Given the description of an element on the screen output the (x, y) to click on. 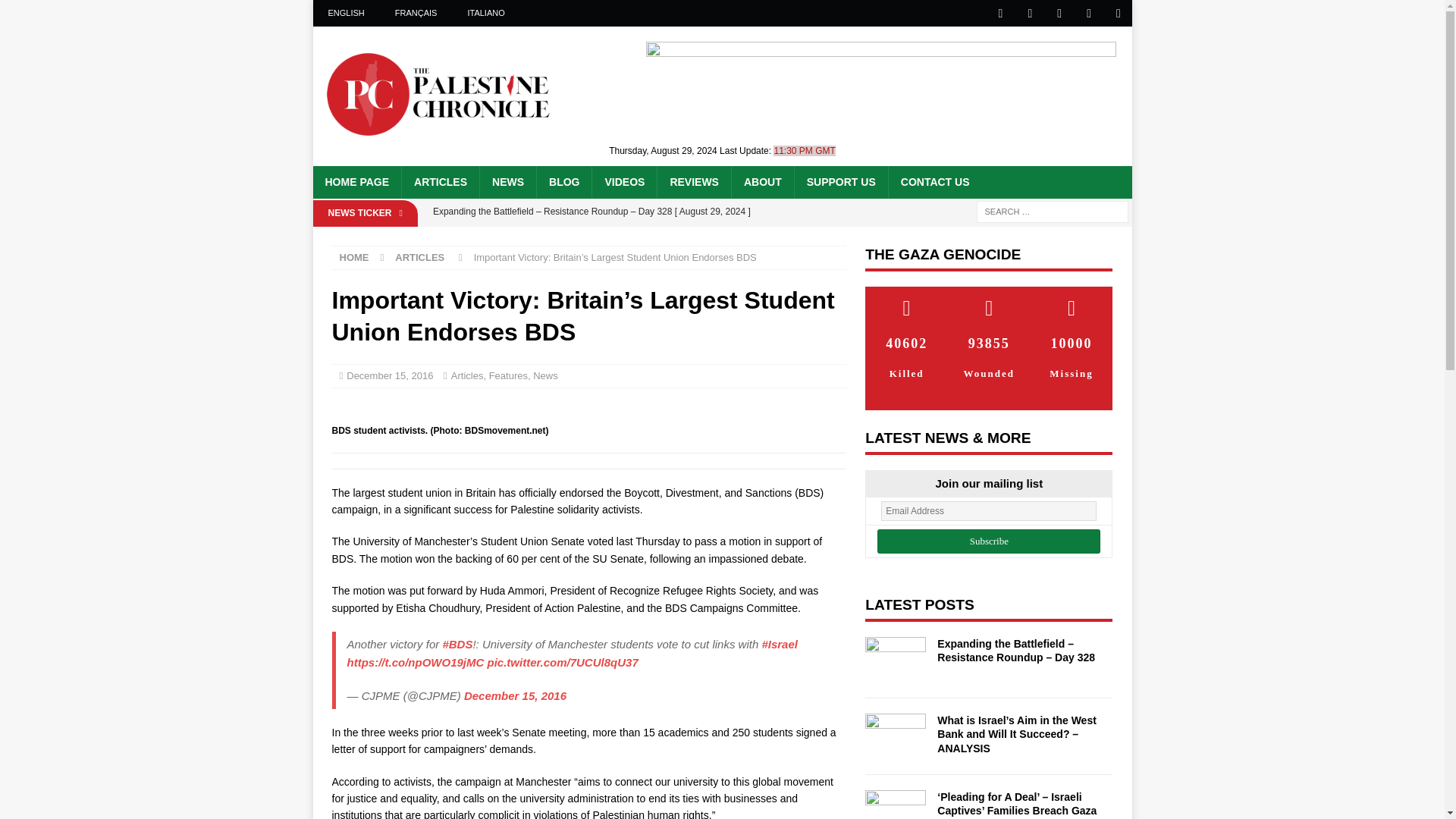
HOME (354, 256)
ARTICLES (419, 256)
Subscribe (988, 541)
Features (508, 375)
NEWS (507, 182)
Search (56, 11)
News (544, 375)
CONTACT US (934, 182)
December 15, 2016 (389, 375)
